Given the description of an element on the screen output the (x, y) to click on. 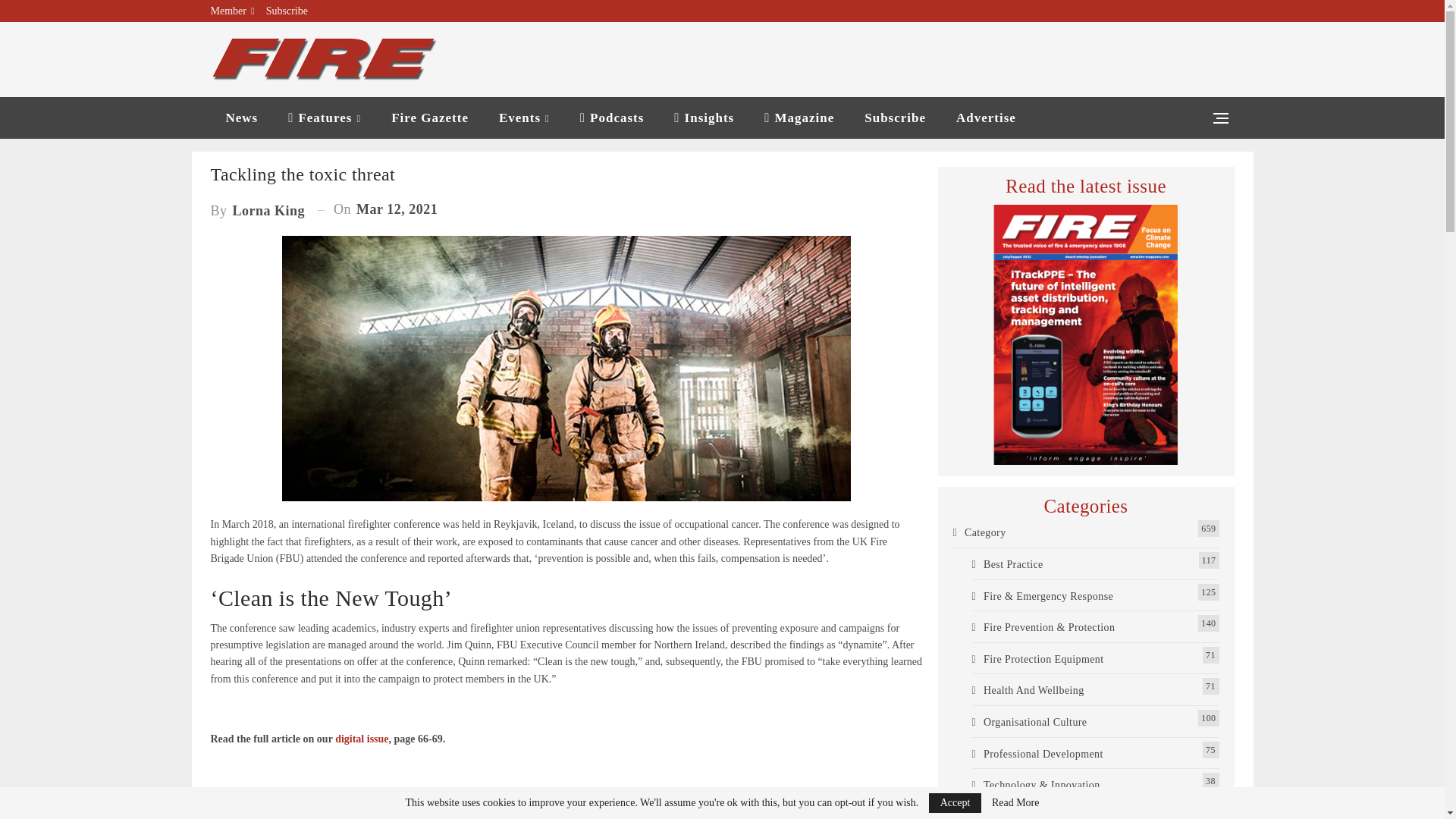
News (242, 117)
Fire Gazette (429, 117)
Browse Author Articles (258, 209)
Member (232, 10)
Subscribe (286, 10)
Features (324, 117)
